Given the description of an element on the screen output the (x, y) to click on. 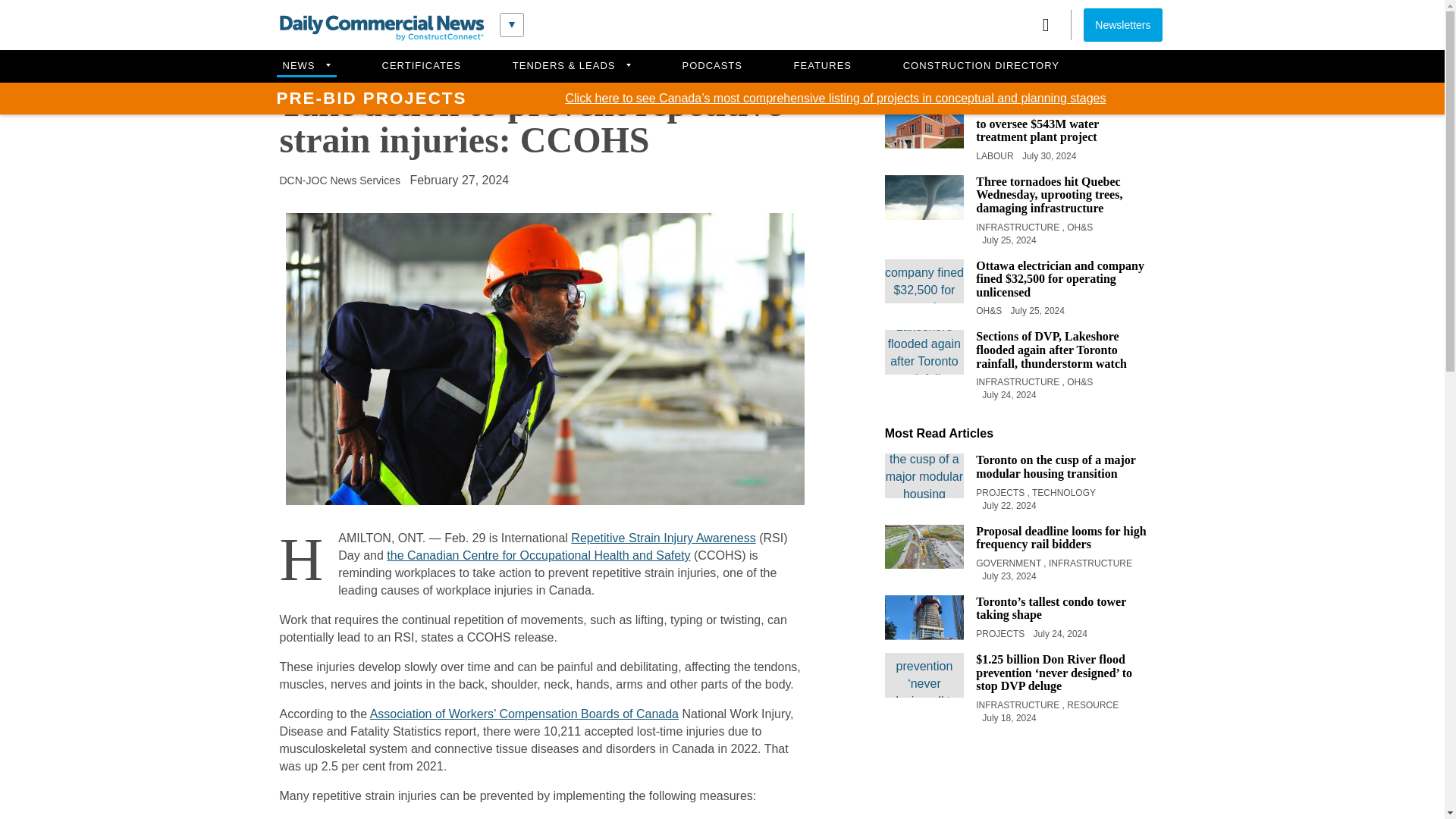
FEATURES (823, 65)
Newsletters (1122, 24)
View site list (511, 24)
Newsletters (1122, 24)
PODCASTS (712, 65)
Certificates (422, 65)
NEWS (305, 65)
News (305, 65)
CONSTRUCTION DIRECTORY (981, 65)
CERTIFICATES (422, 65)
Daily Commercial News (381, 27)
